Given the description of an element on the screen output the (x, y) to click on. 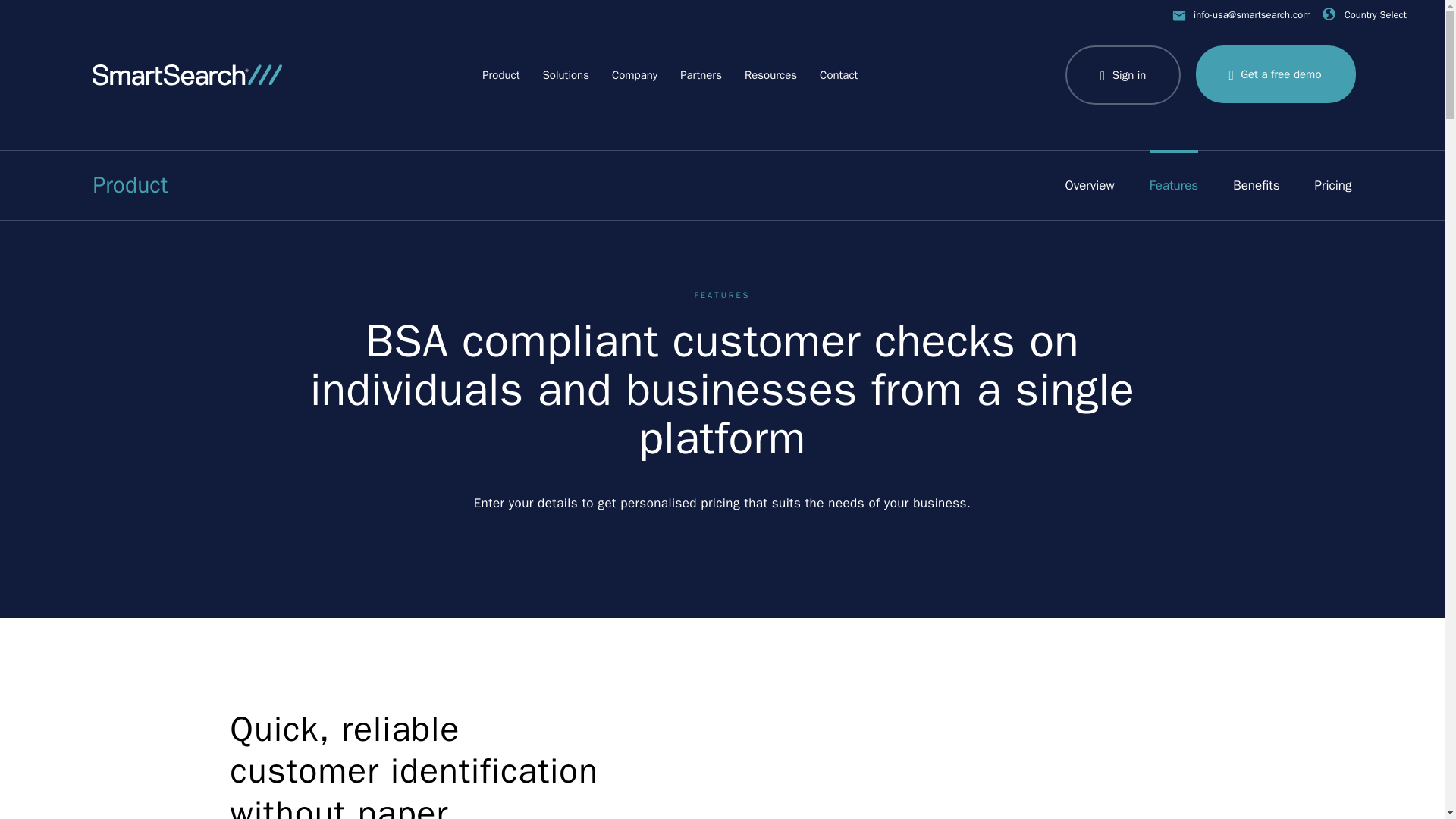
Partners (700, 75)
Product (500, 75)
Solutions (566, 75)
Resources (770, 75)
Get a free demo (1275, 74)
Company (634, 75)
Country Select (1364, 14)
Sign in (1122, 75)
Contact (838, 75)
